Given the description of an element on the screen output the (x, y) to click on. 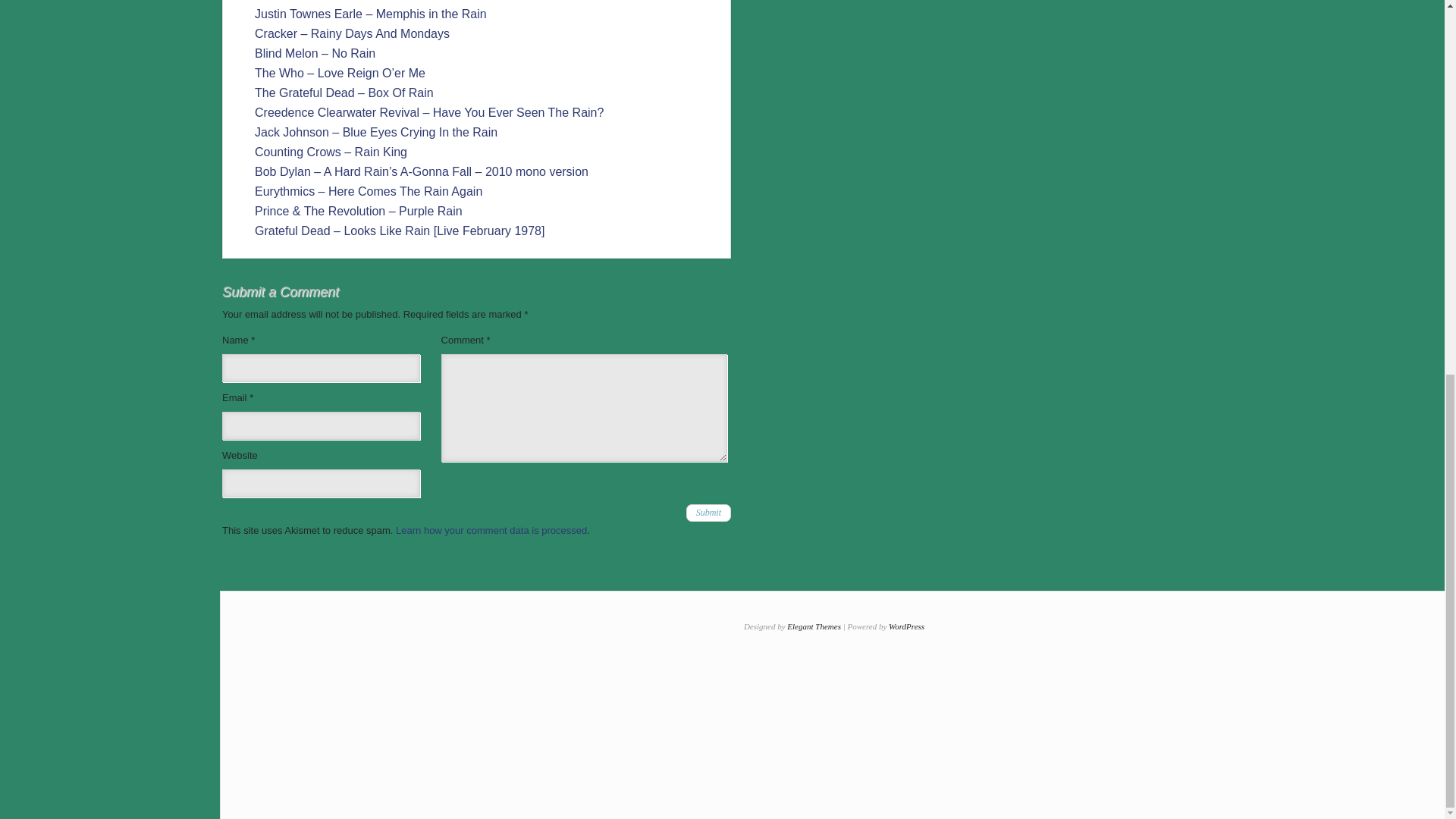
Premium WordPress Themes (814, 625)
WordPress (906, 625)
Submit (707, 512)
Elegant Themes (814, 625)
Learn how your comment data is processed (491, 530)
Submit (707, 512)
